Given the description of an element on the screen output the (x, y) to click on. 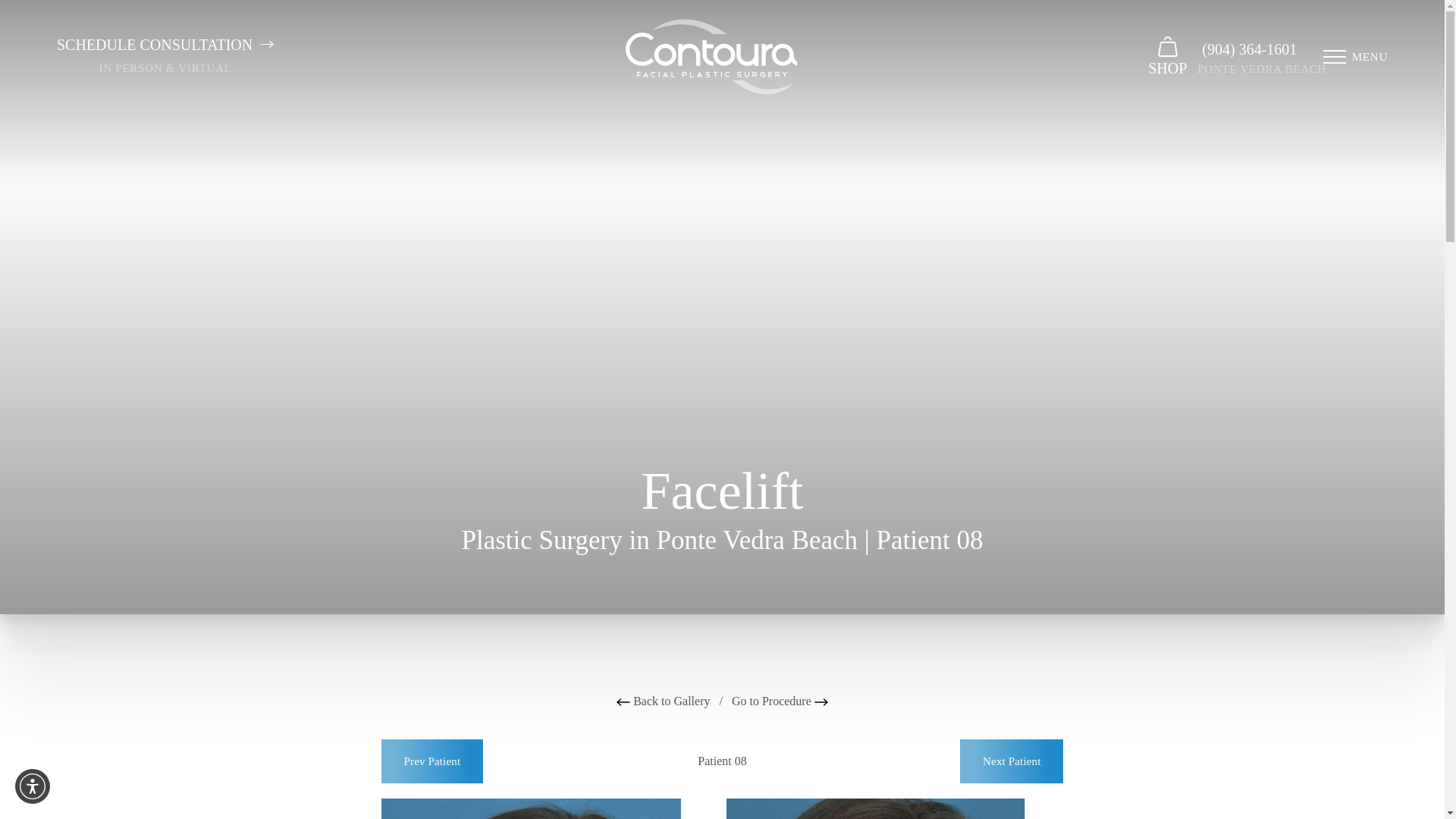
SCHEDULE CONSULTATION (164, 44)
